Given the description of an element on the screen output the (x, y) to click on. 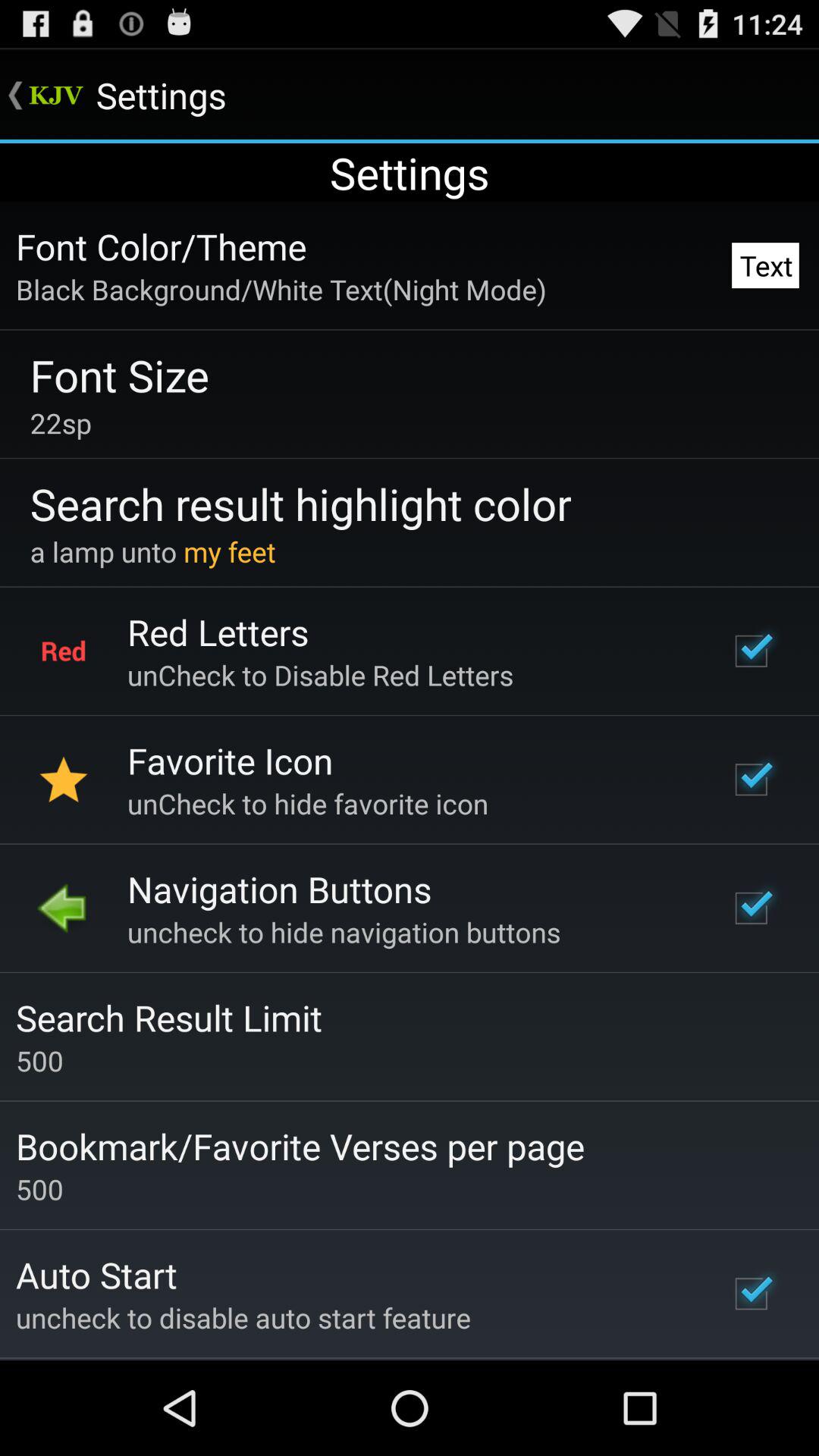
open the icon below 500 item (299, 1146)
